Given the description of an element on the screen output the (x, y) to click on. 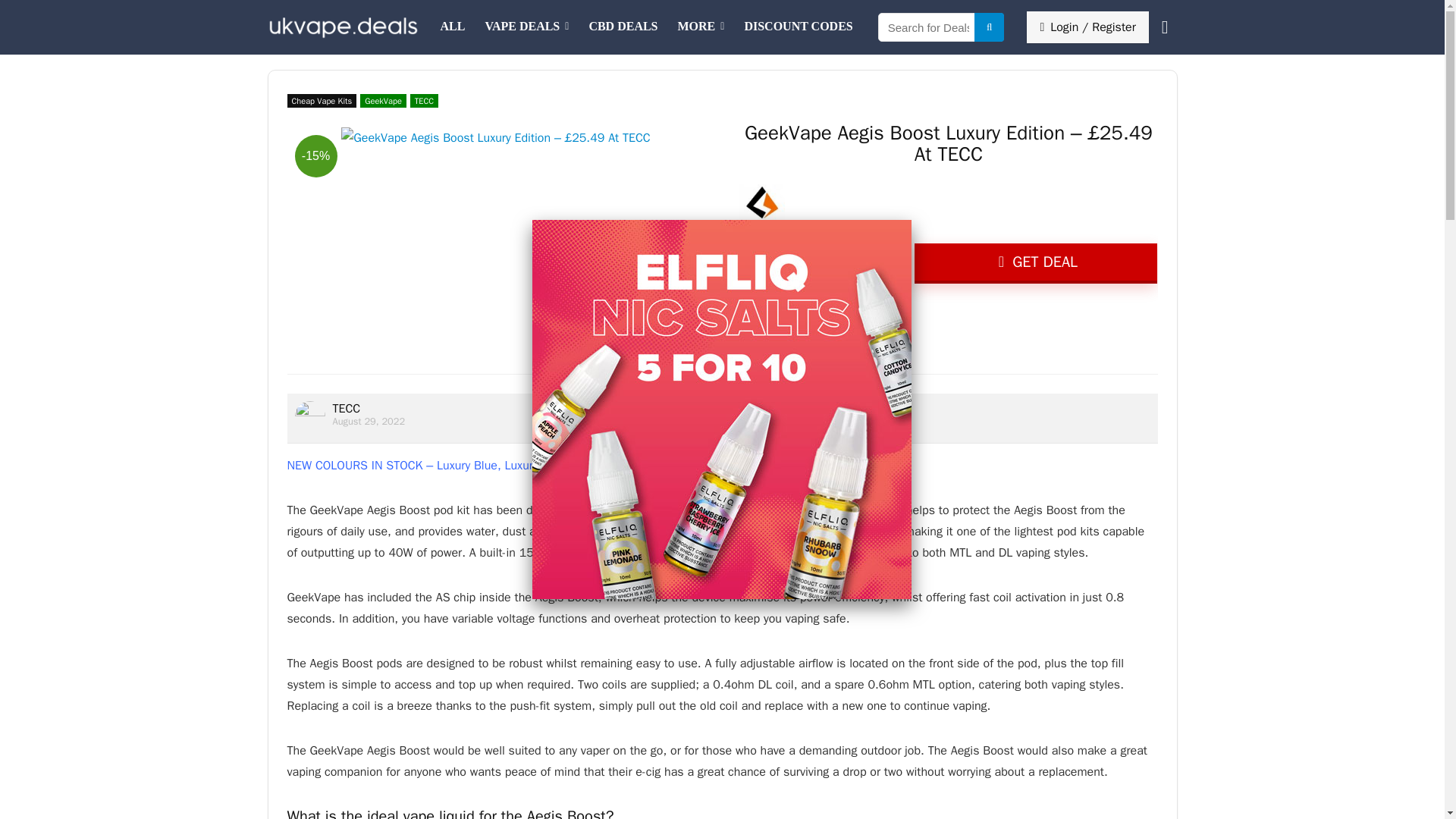
TECC (345, 408)
CBD DEALS (622, 27)
DISCOUNT CODES (797, 27)
View all posts in GeekVape (382, 100)
Vape Deals (526, 27)
ALL (453, 27)
Cheap Vape Kits (321, 100)
View all posts in Cheap Vape Kits (321, 100)
VAPE DEALS (526, 27)
UK Vape Deals  (453, 27)
CBD Deals UK (622, 27)
MORE (701, 27)
TECC (424, 100)
GET DEAL (1035, 263)
GeekVape (382, 100)
